Given the description of an element on the screen output the (x, y) to click on. 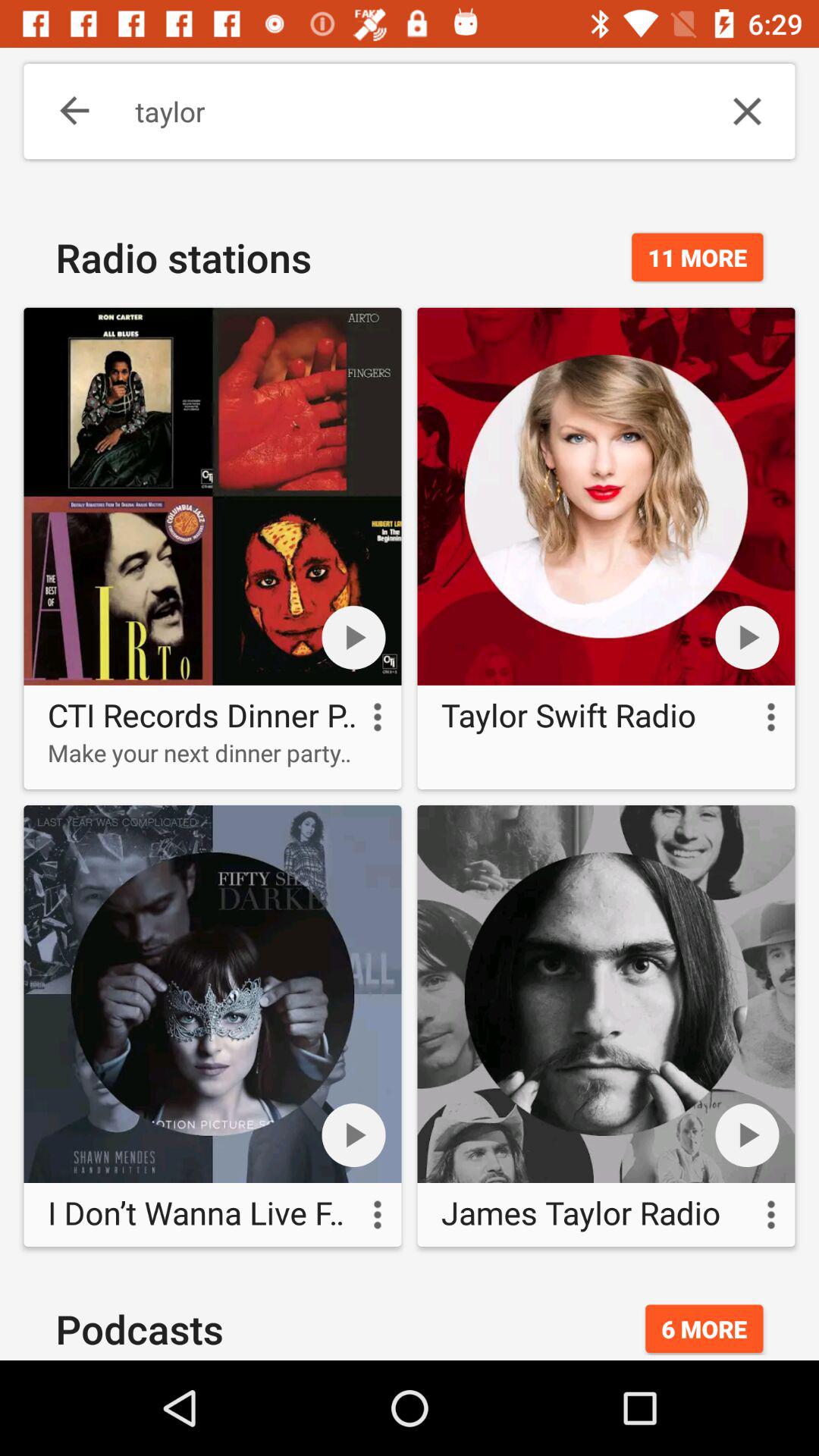
launch 11 more item (697, 257)
